Given the description of an element on the screen output the (x, y) to click on. 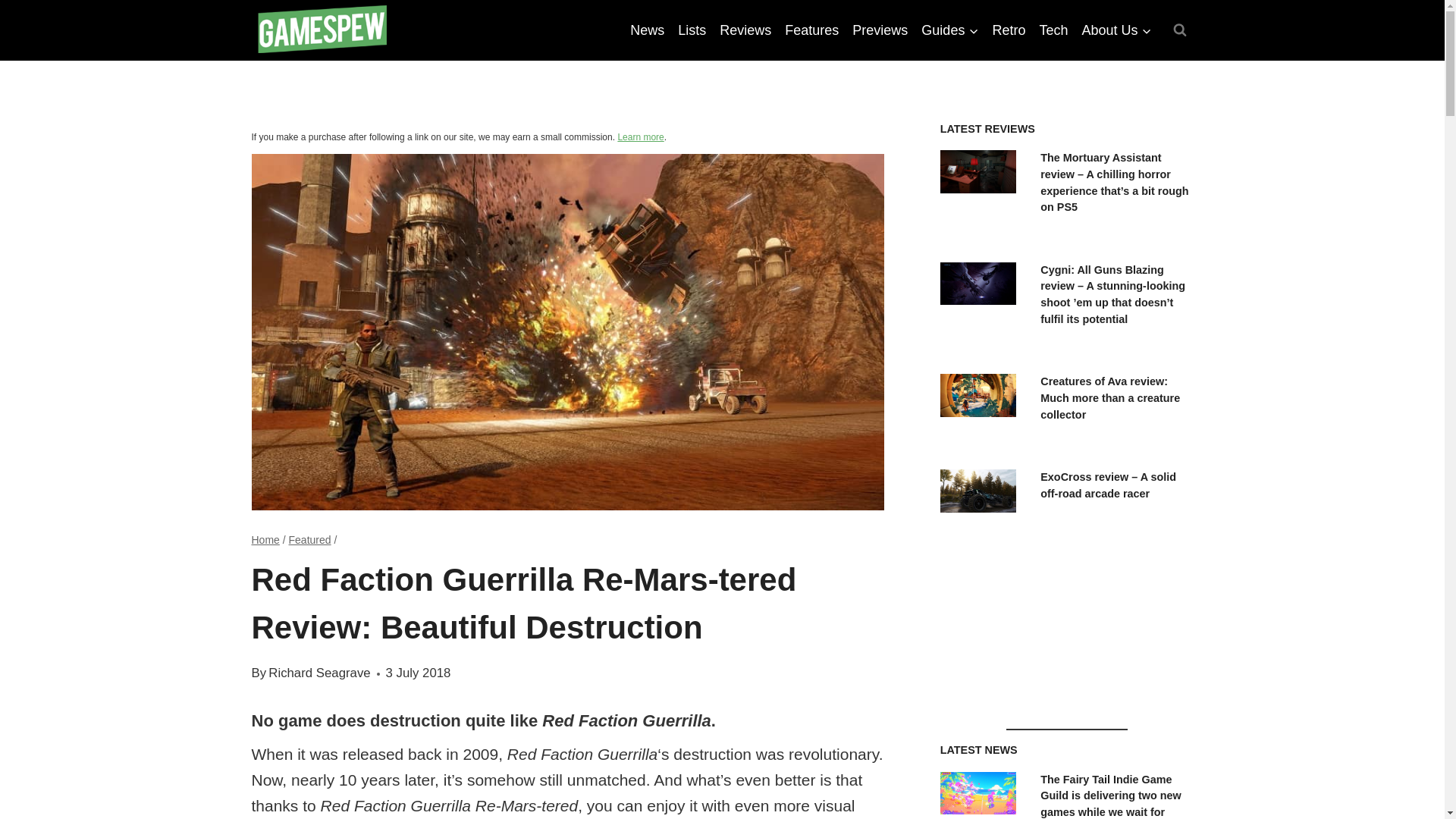
Reviews (745, 30)
Tech (1053, 30)
Features (811, 30)
Richard Seagrave (318, 672)
Lists (692, 30)
Featured (309, 539)
Home (265, 539)
Retro (1008, 30)
About Us (1115, 30)
News (647, 30)
